Given the description of an element on the screen output the (x, y) to click on. 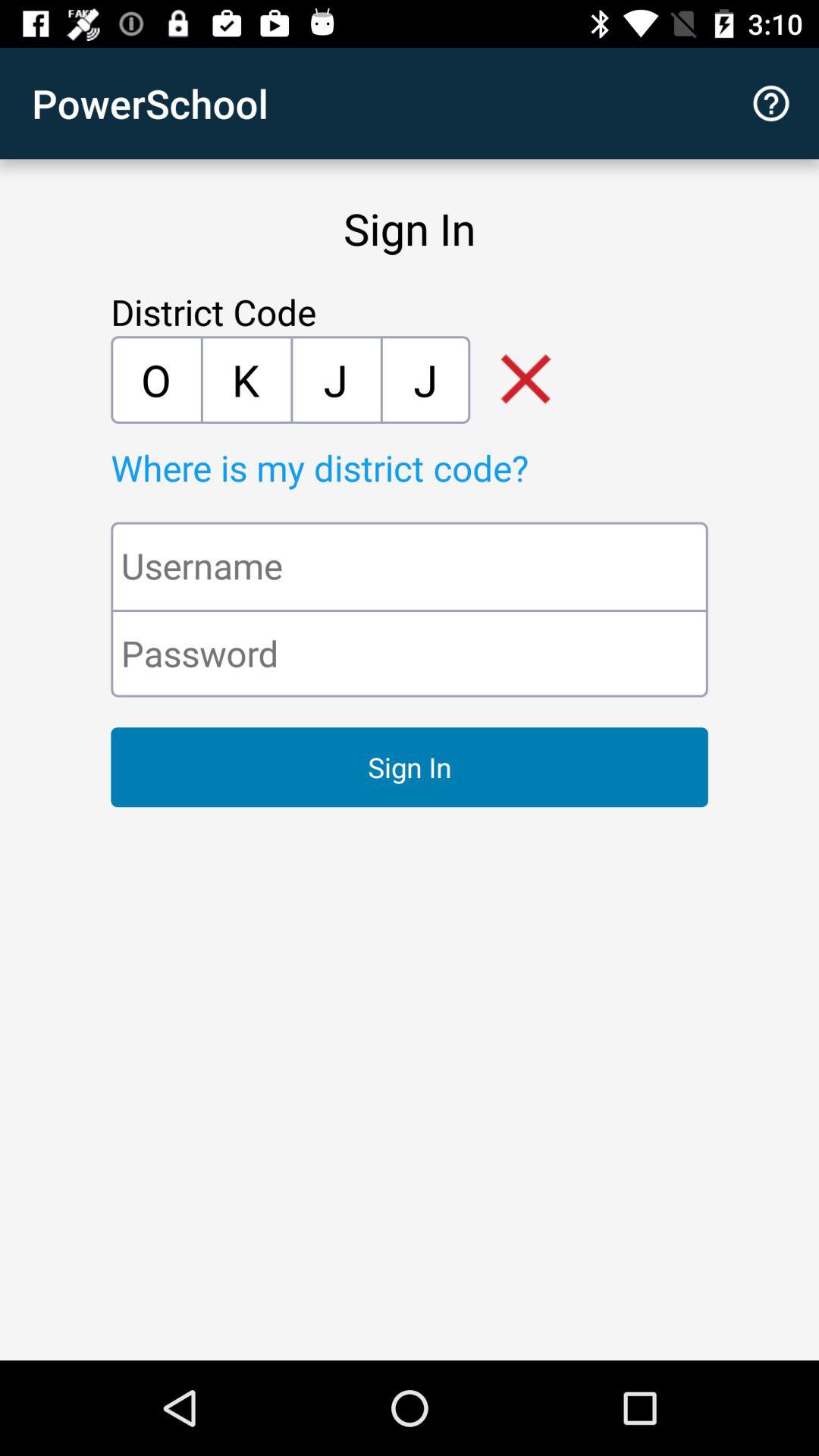
tap the item at the top right corner (771, 103)
